Given the description of an element on the screen output the (x, y) to click on. 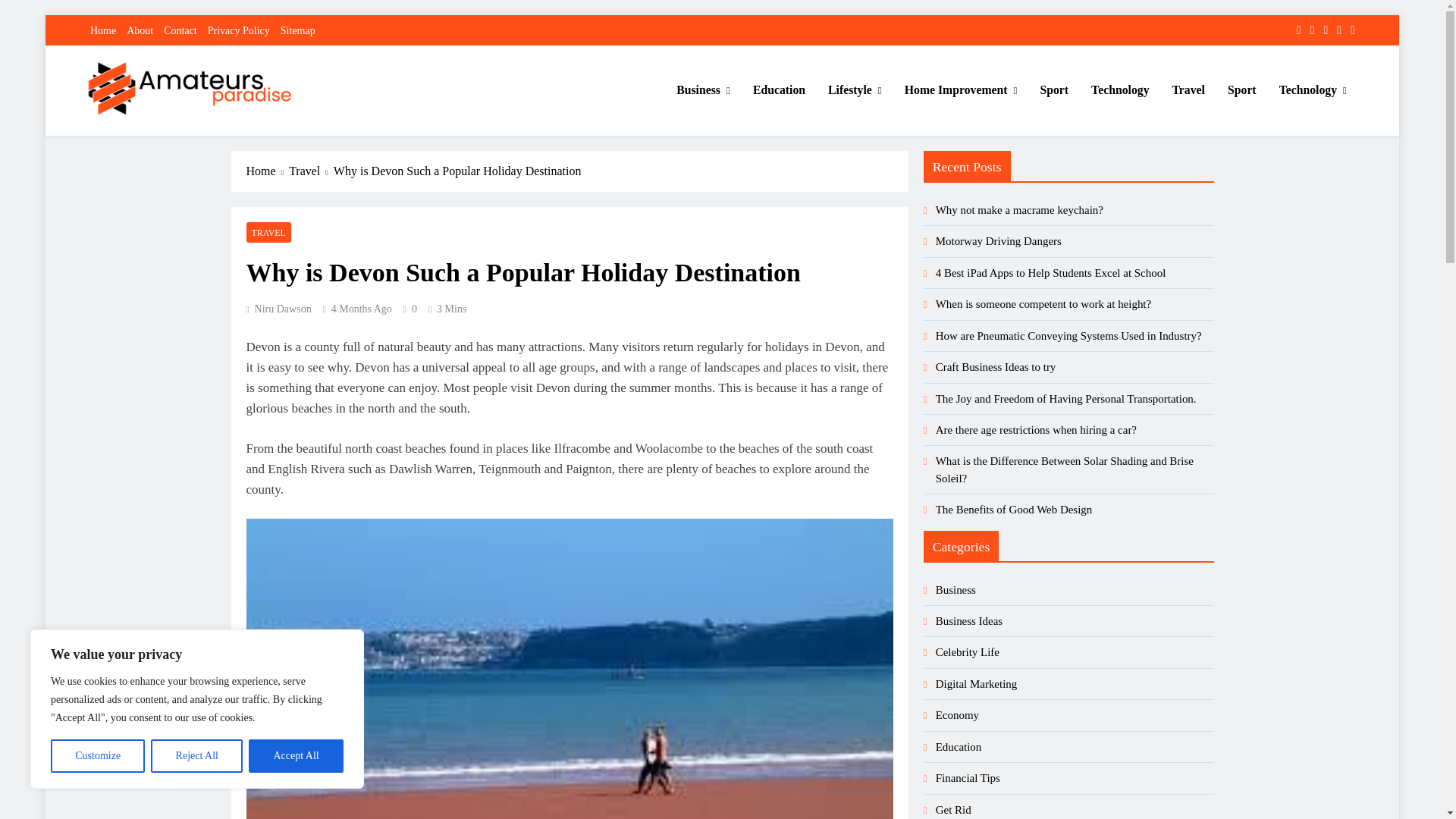
Technology (1120, 89)
About (139, 30)
Accept All (295, 756)
Lifestyle (854, 90)
Customize (97, 756)
Privacy Policy (238, 30)
Contact (179, 30)
Amateurs Paradise (181, 137)
Home (103, 30)
Home Improvement (961, 90)
Sport (1053, 89)
Business (703, 90)
Education (778, 89)
Sitemap (298, 30)
